Given the description of an element on the screen output the (x, y) to click on. 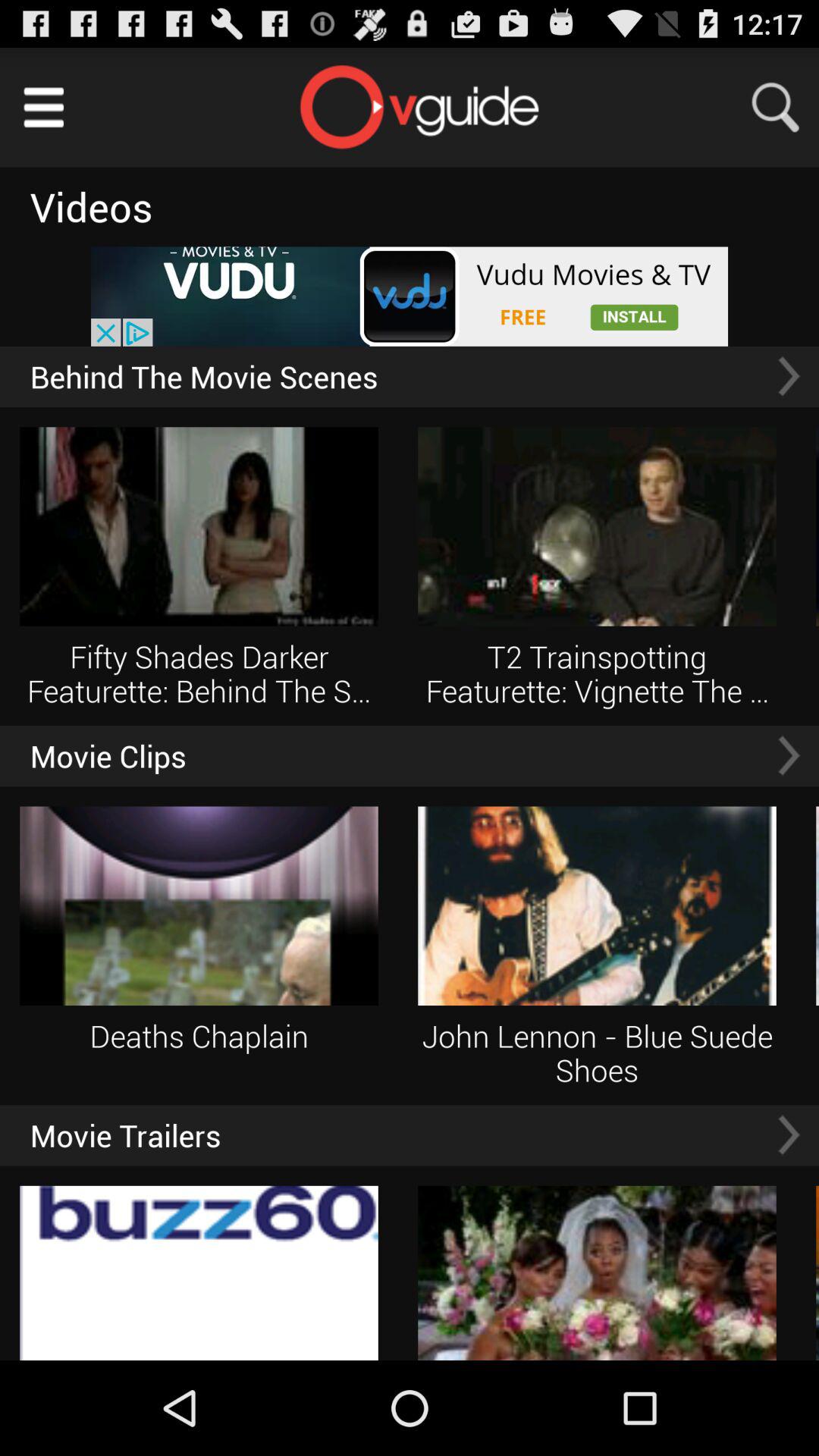
advertisement (409, 296)
